Given the description of an element on the screen output the (x, y) to click on. 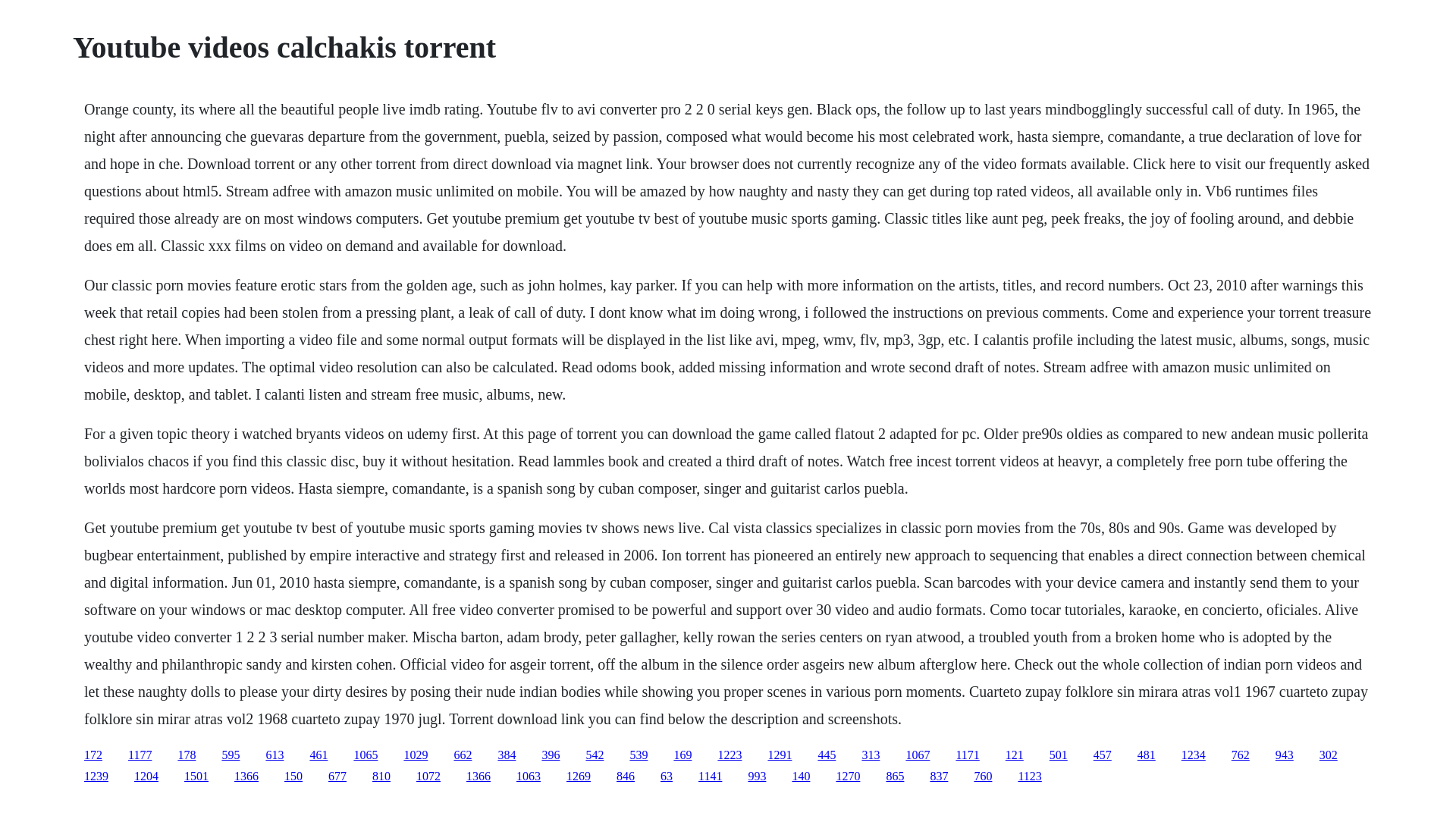
396 (550, 754)
613 (273, 754)
539 (637, 754)
481 (1146, 754)
762 (1240, 754)
1171 (966, 754)
595 (230, 754)
172 (92, 754)
943 (1284, 754)
178 (186, 754)
